Given the description of an element on the screen output the (x, y) to click on. 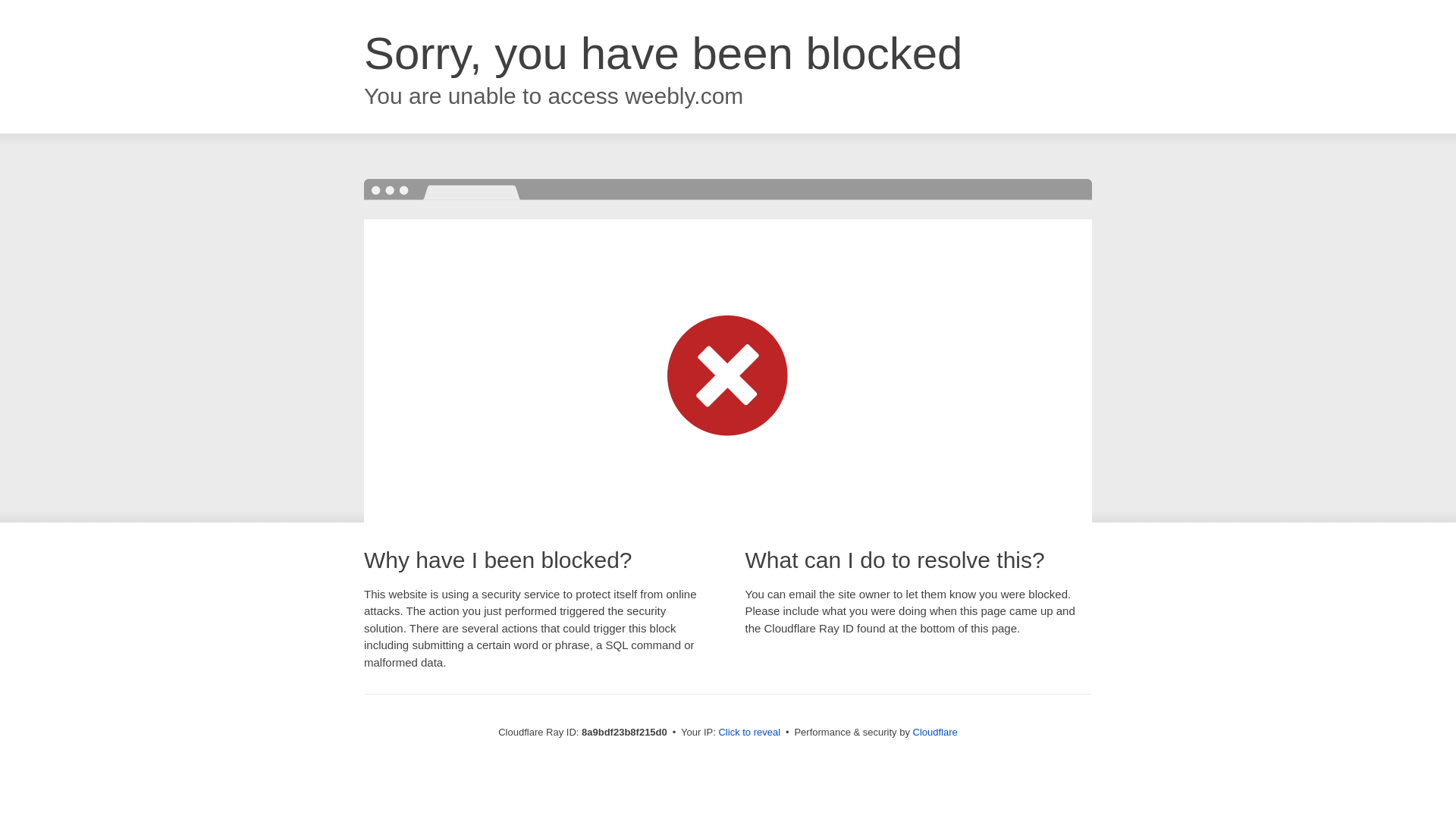
Click to reveal (748, 732)
Cloudflare (935, 731)
